Given the description of an element on the screen output the (x, y) to click on. 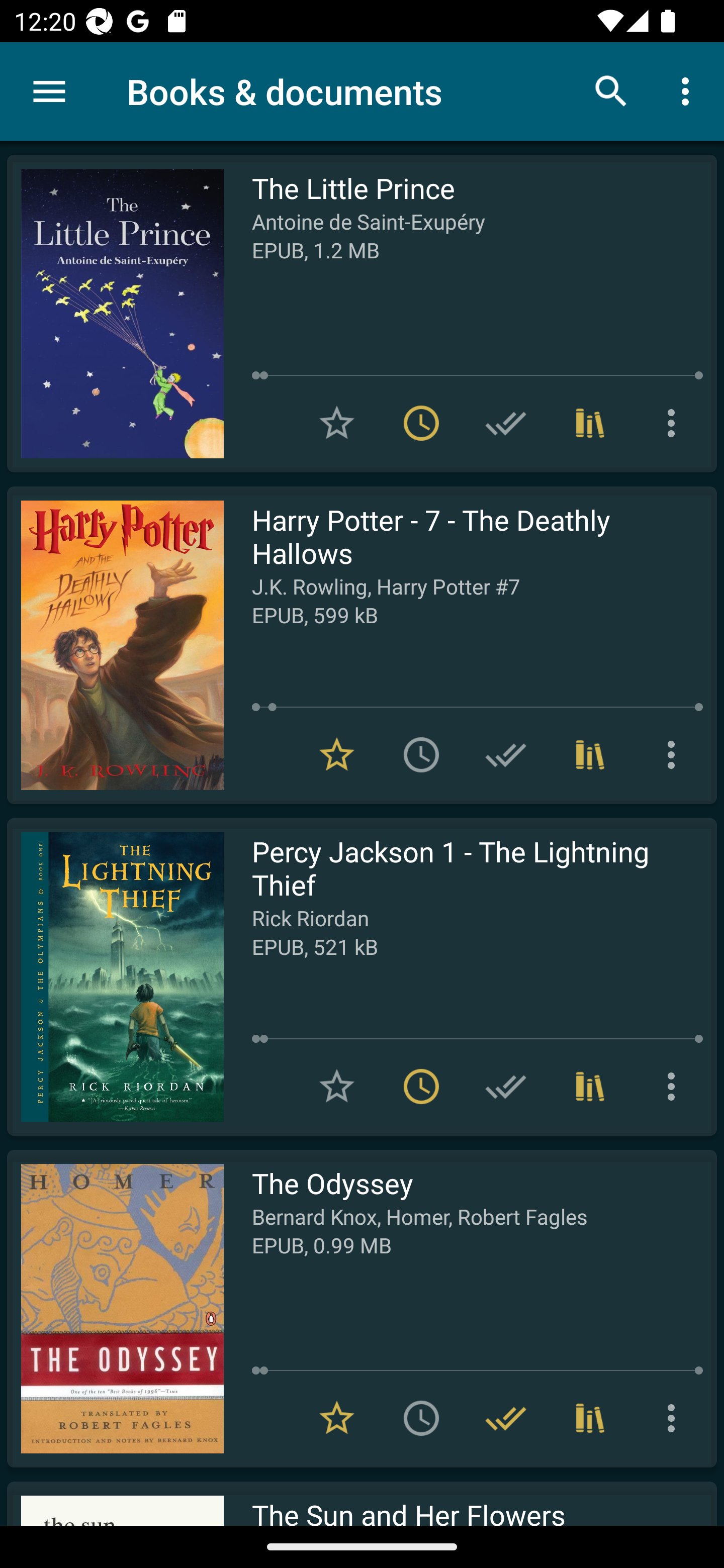
Menu (49, 91)
Search books & documents (611, 90)
More options (688, 90)
Read The Little Prince (115, 313)
Add to Favorites (336, 423)
Remove from To read (421, 423)
Add to Have read (505, 423)
Collections (1) (590, 423)
More options (674, 423)
Read Harry Potter - 7 - The Deathly Hallows (115, 645)
Remove from Favorites (336, 753)
Add to To read (421, 753)
Add to Have read (505, 753)
Collections (2) (590, 753)
More options (674, 753)
Read Percy Jackson 1 - The Lightning Thief (115, 976)
Add to Favorites (336, 1086)
Remove from To read (421, 1086)
Add to Have read (505, 1086)
Collections (1) (590, 1086)
More options (674, 1086)
Read The Odyssey (115, 1308)
Remove from Favorites (336, 1417)
Add to To read (421, 1417)
Remove from Have read (505, 1417)
Collections (2) (590, 1417)
More options (674, 1417)
